Given the description of an element on the screen output the (x, y) to click on. 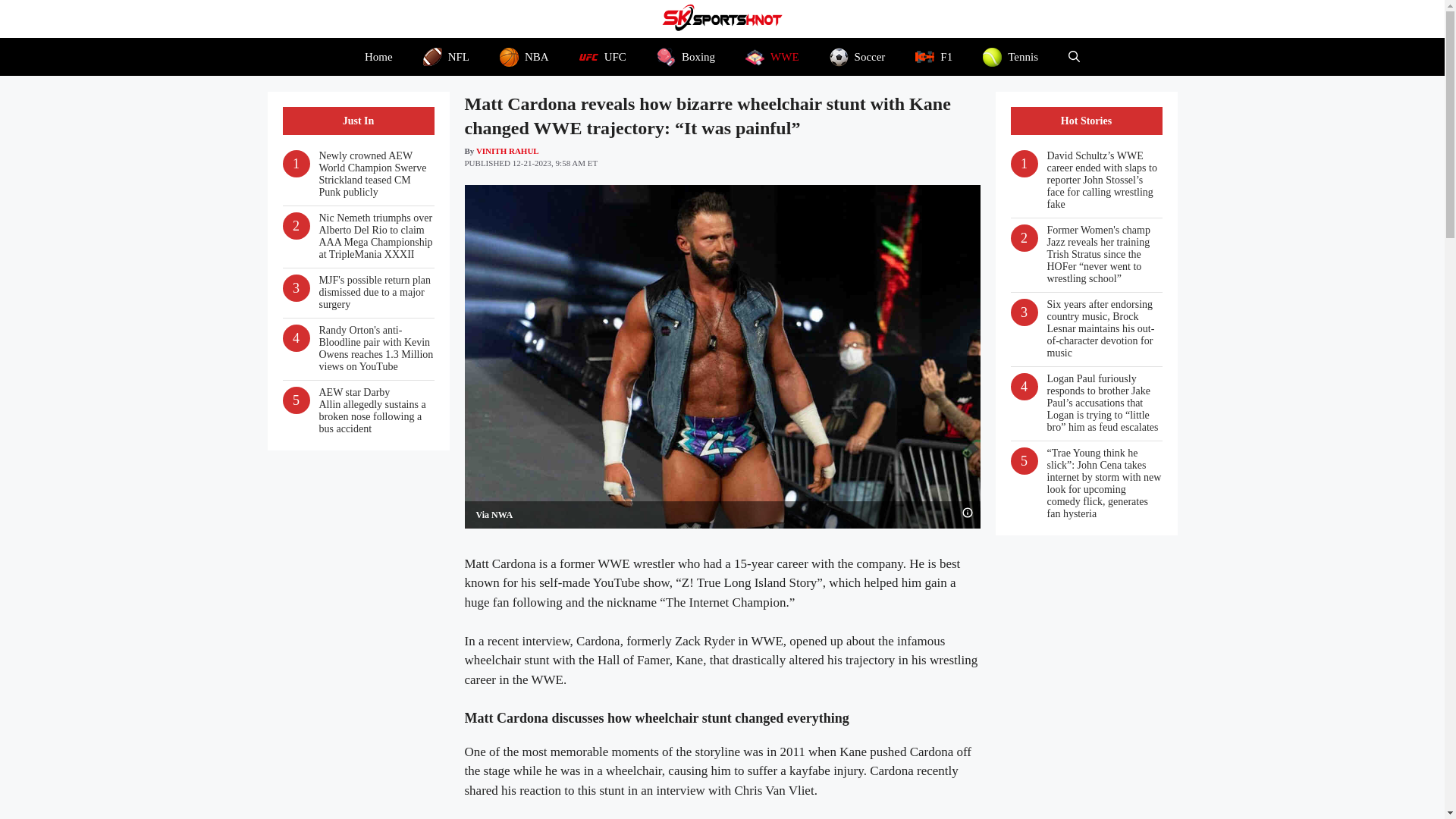
UFC (603, 56)
VINITH RAHUL (507, 149)
NBA (524, 56)
Boxing (686, 56)
NFL (445, 56)
WWE (771, 56)
Home (378, 56)
View all posts by Vinith Rahul (507, 149)
Soccer (857, 56)
F1 (933, 56)
Tennis (1010, 56)
